Given the description of an element on the screen output the (x, y) to click on. 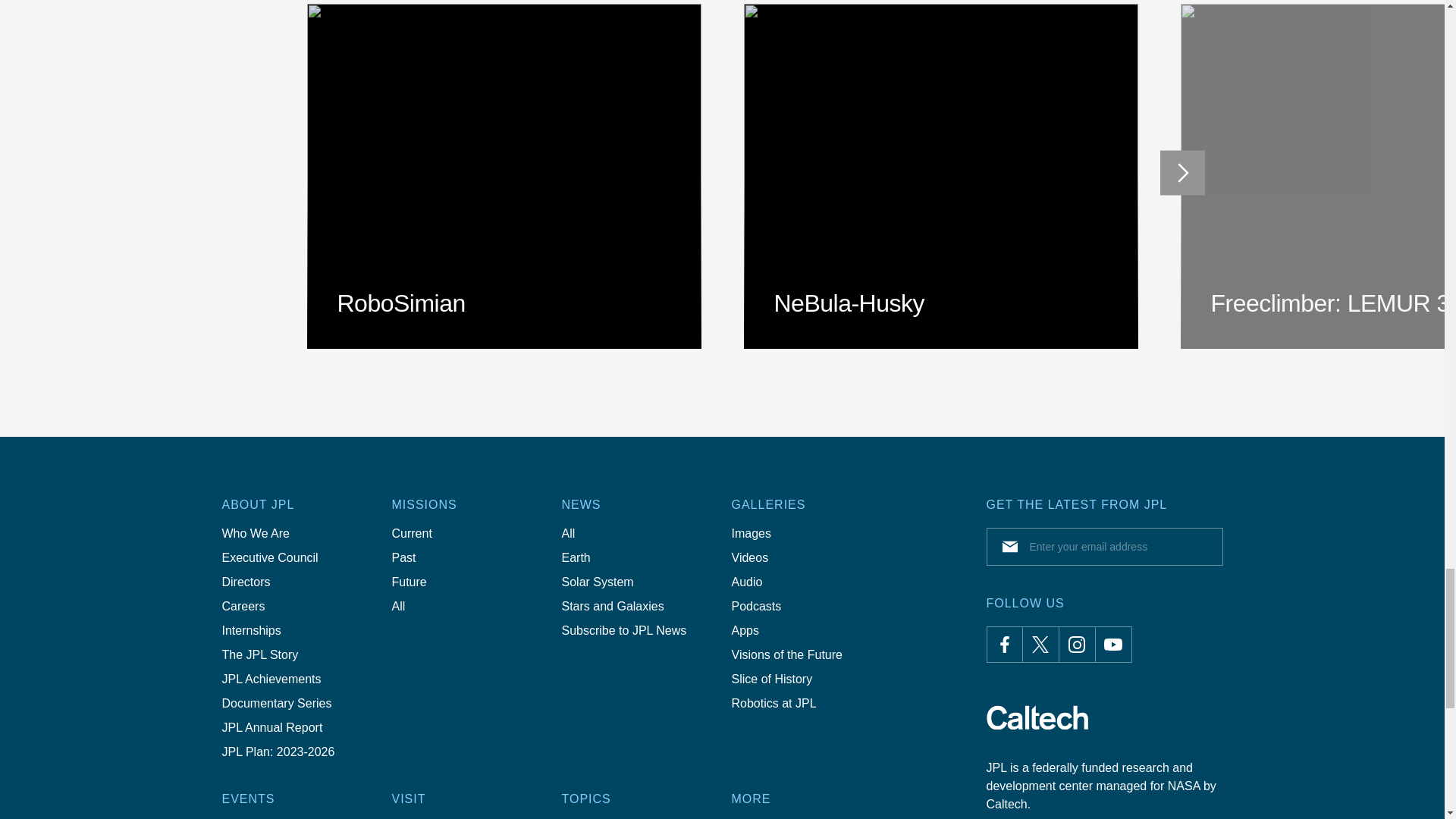
Who We Are (255, 533)
Executive Council (269, 558)
Careers (242, 606)
Directors (245, 582)
